Given the description of an element on the screen output the (x, y) to click on. 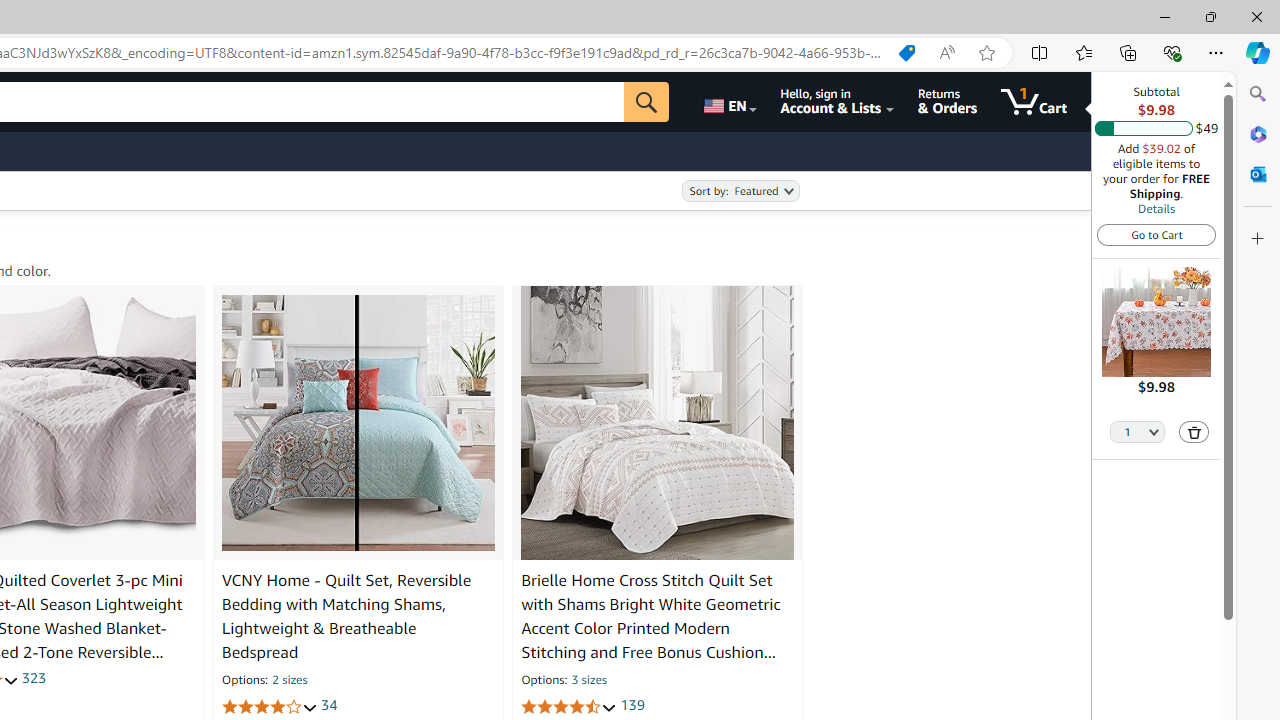
Go (646, 101)
2 sizes (289, 681)
Hello, sign in Account & Lists (836, 101)
139 (632, 705)
Choose a language for shopping. (728, 101)
Delete (1193, 431)
4.5 out of 5 stars (569, 706)
1 item in cart (1034, 101)
